Given the description of an element on the screen output the (x, y) to click on. 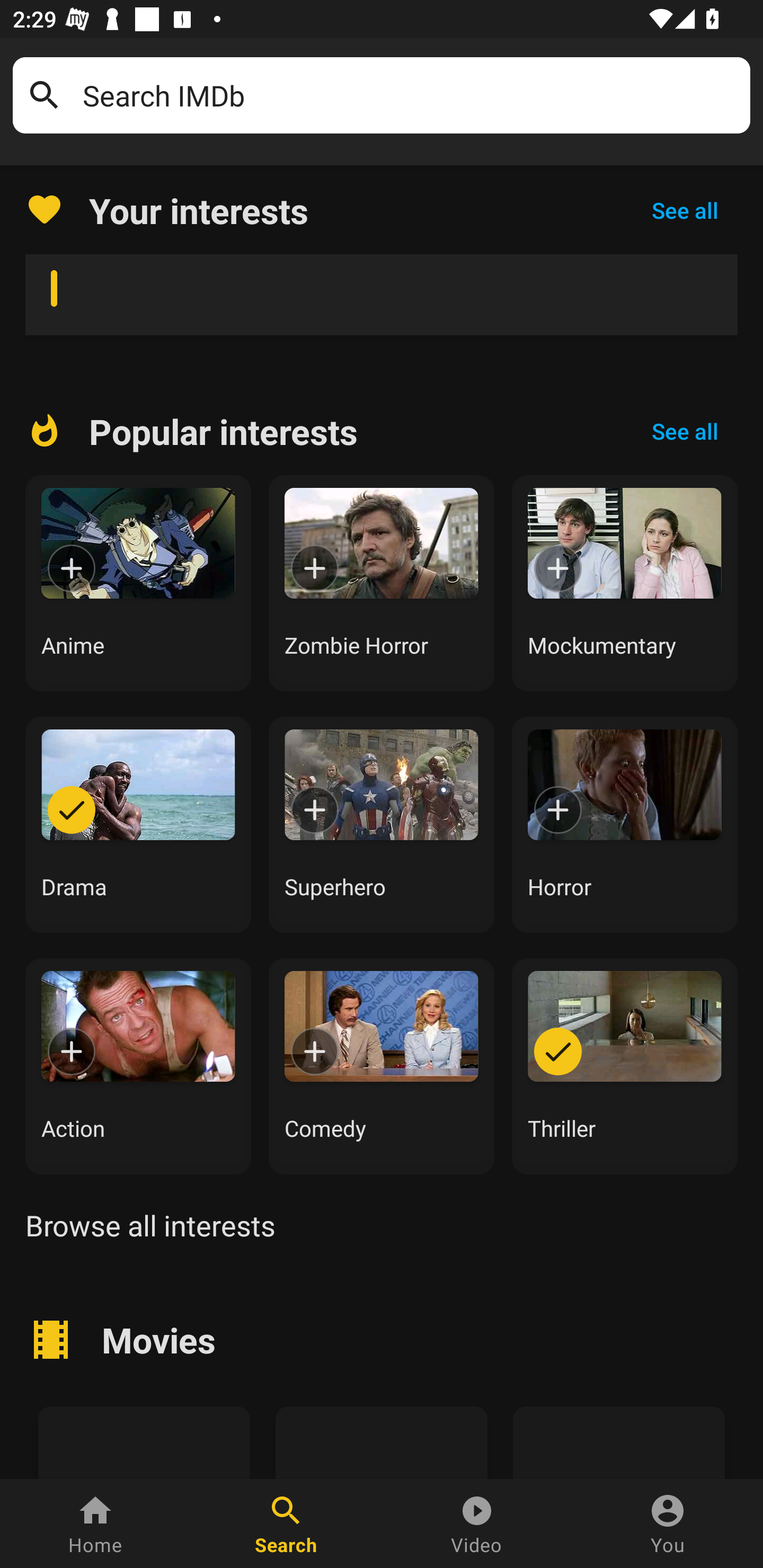
Search IMDb (410, 95)
See all (684, 209)
See all (684, 430)
Anime (138, 583)
Zombie Horror (381, 583)
Mockumentary (624, 583)
Drama (138, 824)
Superhero (381, 824)
Horror (624, 824)
Action (138, 1065)
Comedy (381, 1065)
Thriller (624, 1065)
Browse all interests (150, 1224)
Home (95, 1523)
Video (476, 1523)
You (667, 1523)
